Given the description of an element on the screen output the (x, y) to click on. 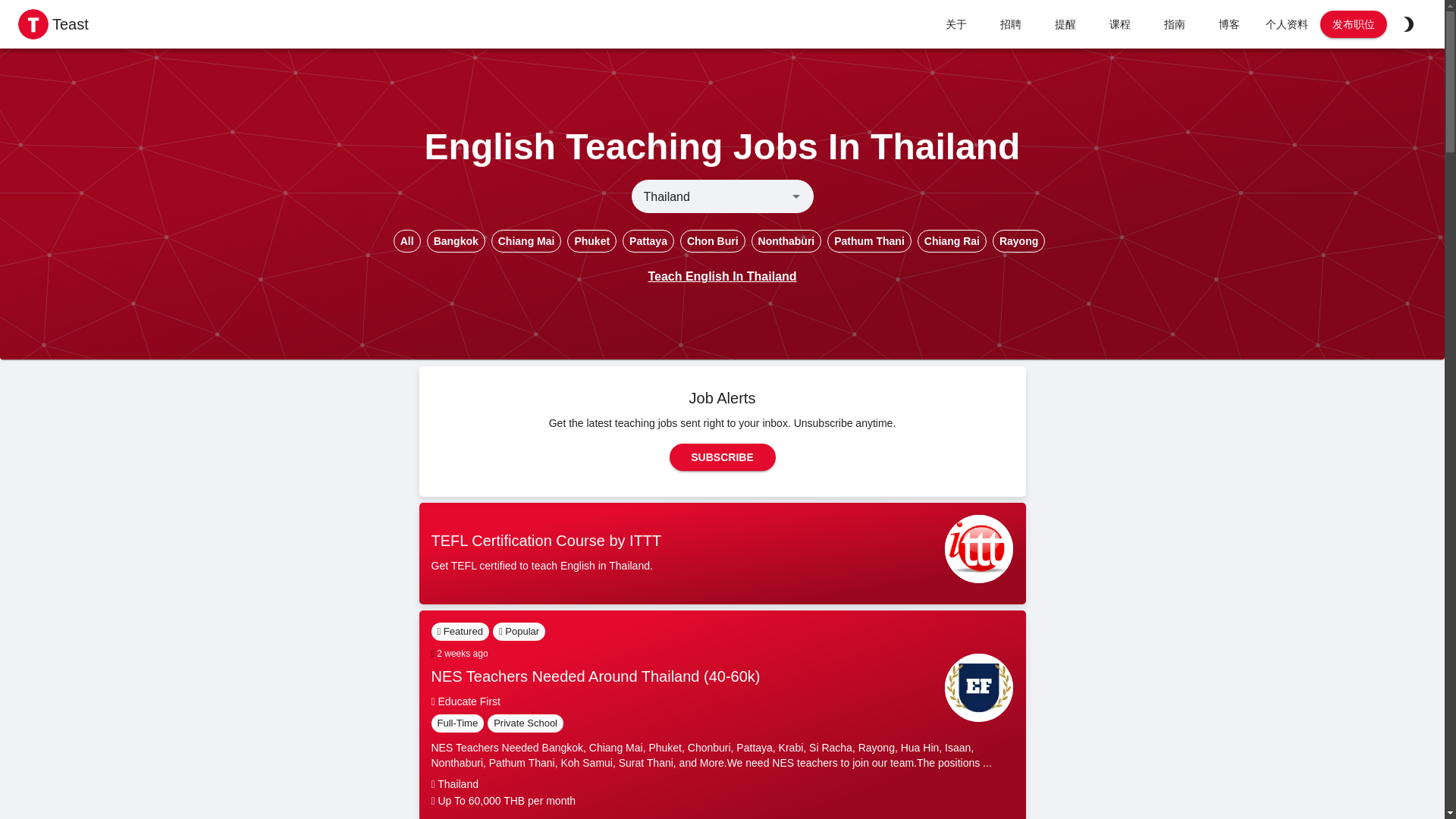
Nonthaburi (786, 240)
Teach English In Thailand (721, 276)
Chon Buri (712, 240)
Phuket (592, 240)
All (406, 240)
SUBSCRIBE (721, 456)
Rayong (1019, 240)
Bangkok (455, 240)
Pathum Thani (869, 240)
